Given the description of an element on the screen output the (x, y) to click on. 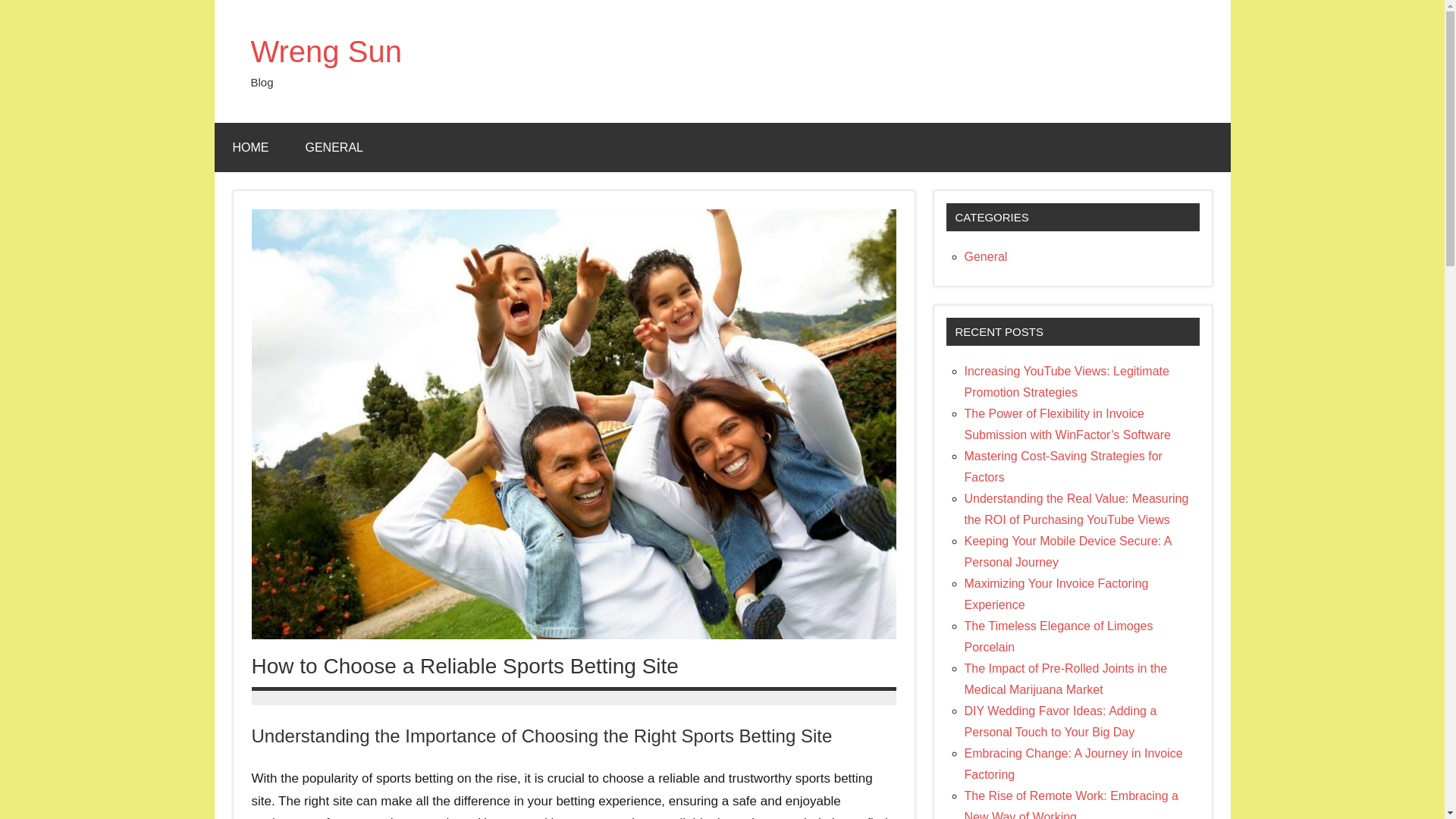
GENERAL (333, 146)
Embracing Change: A Journey in Invoice Factoring (1072, 763)
Keeping Your Mobile Device Secure: A Personal Journey (1067, 551)
Wreng Sun (325, 51)
Mastering Cost-Saving Strategies for Factors (1062, 466)
Increasing YouTube Views: Legitimate Promotion Strategies (1066, 381)
Maximizing Your Invoice Factoring Experience (1055, 593)
General (985, 256)
The Timeless Elegance of Limoges Porcelain (1058, 636)
The Rise of Remote Work: Embracing a New Way of Working (1070, 804)
HOME (250, 146)
